Given the description of an element on the screen output the (x, y) to click on. 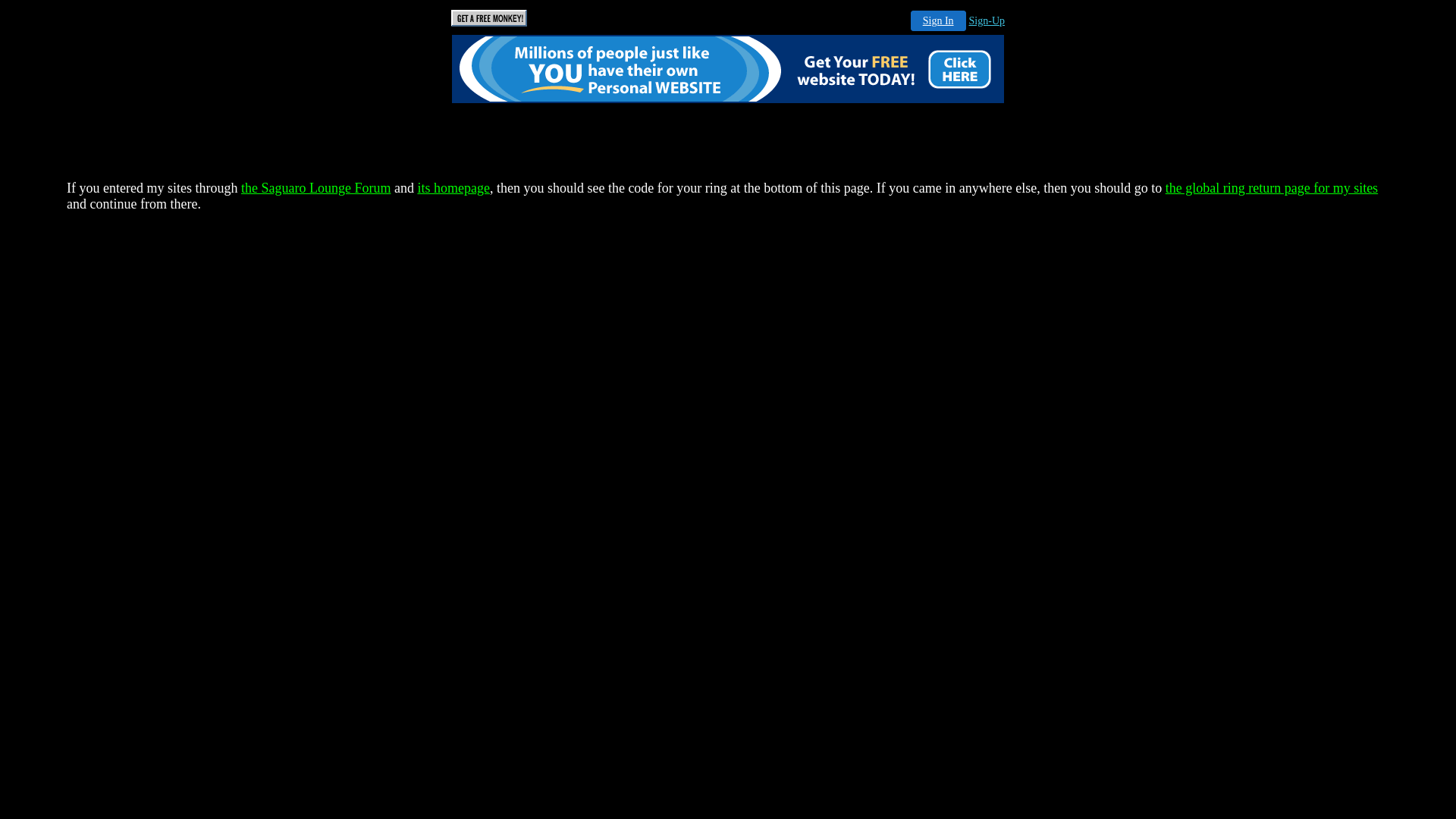
Sign In Element type: text (938, 20)
its homepage Element type: text (453, 187)
the Saguaro Lounge Forum Element type: text (315, 187)
Sign-Up Element type: text (986, 20)
the global ring return page for my sites Element type: text (1271, 187)
